Given the description of an element on the screen output the (x, y) to click on. 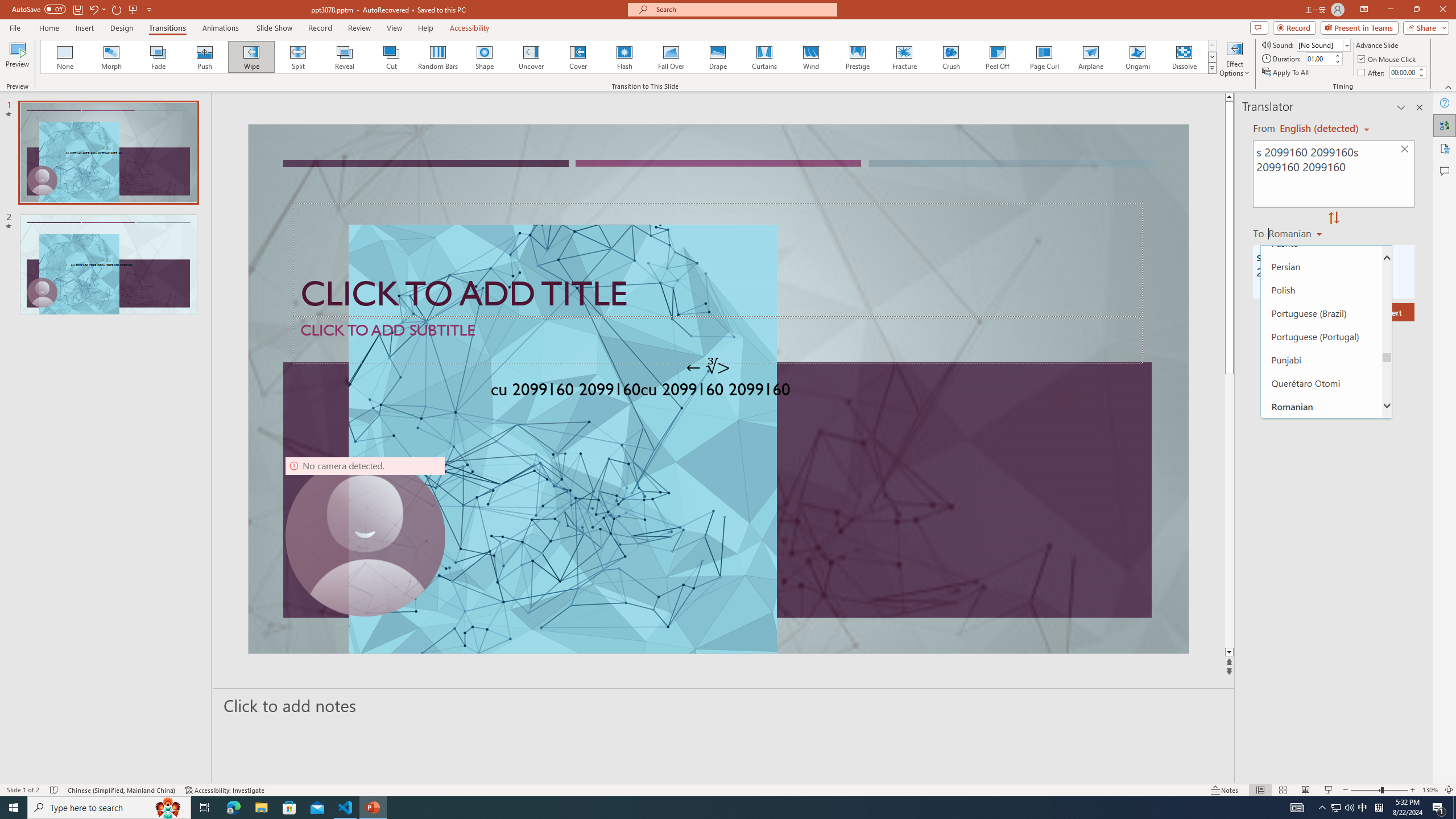
Nepali (1320, 149)
Dissolve (1183, 56)
Clear text (1404, 149)
Spanish (1320, 755)
Morph (111, 56)
Setswana (1320, 592)
Sindhi (1320, 638)
